Given the description of an element on the screen output the (x, y) to click on. 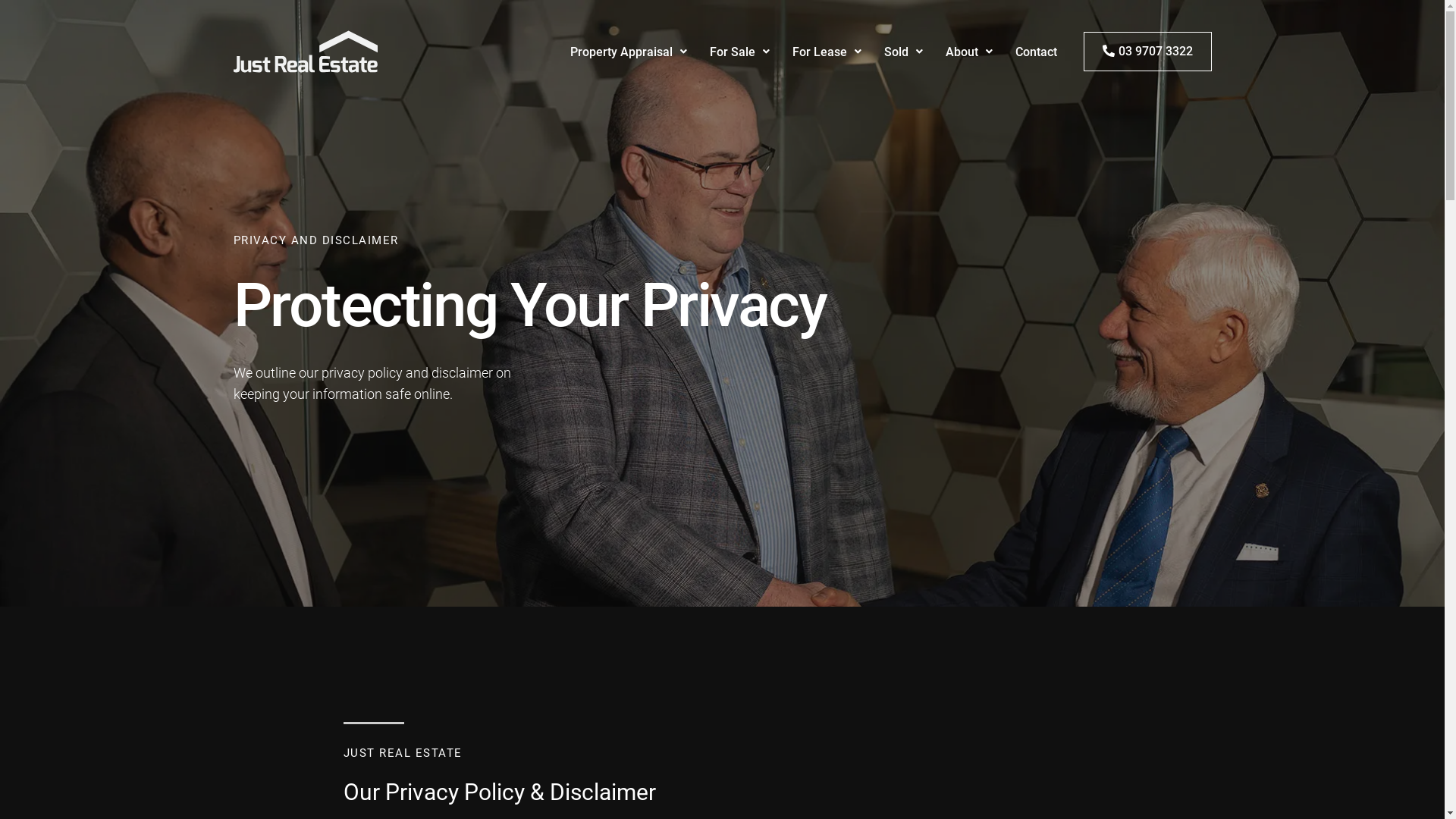
For Lease Element type: text (826, 50)
Sold Element type: text (902, 50)
Property Appraisal Element type: text (627, 50)
For Sale Element type: text (738, 50)
03 9707 3322 Element type: text (1146, 51)
Contact Element type: text (1036, 50)
About Element type: text (969, 50)
